Given the description of an element on the screen output the (x, y) to click on. 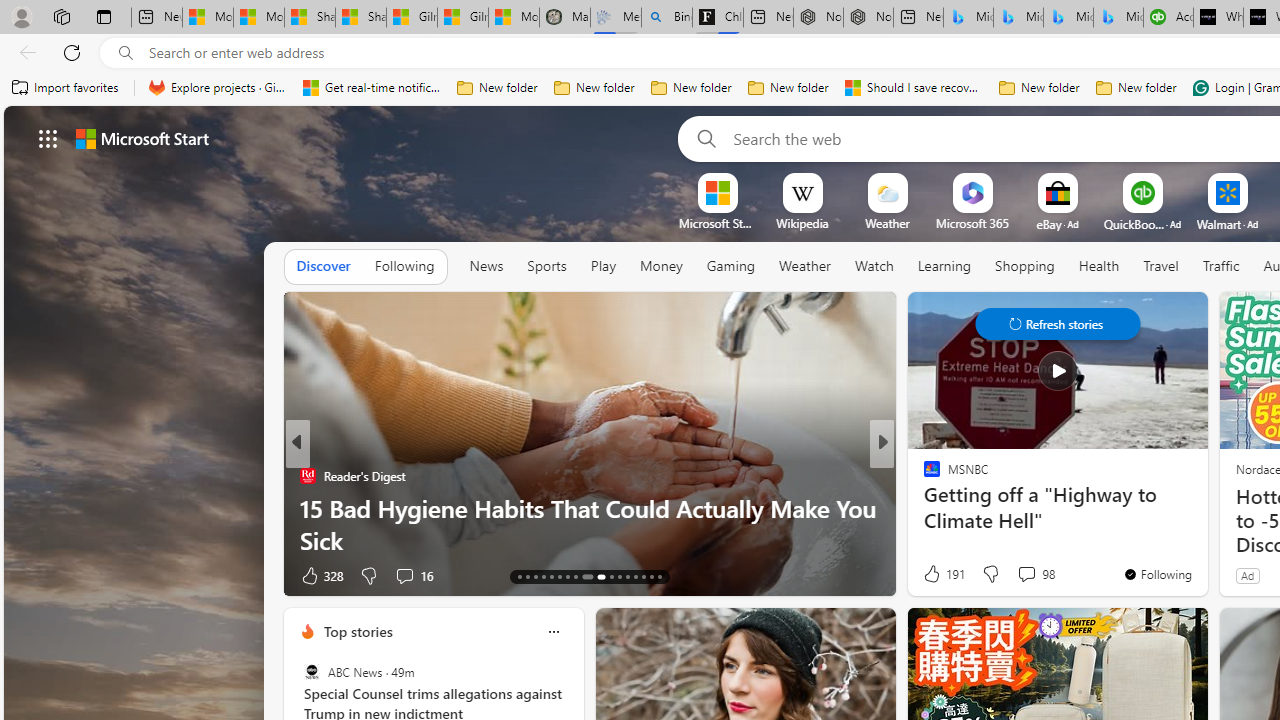
ABC News (311, 672)
Health (1099, 265)
News (485, 267)
Top stories (357, 631)
Learning (944, 265)
AutomationID: tab-24 (619, 576)
Microsoft Bing Travel - Shangri-La Hotel Bangkok (1118, 17)
Traffic (1220, 267)
View comments 7 Comment (1014, 575)
Chloe Sorvino (717, 17)
View comments 4 Comment (1014, 575)
Watch (874, 267)
ETNT Mind+Body (923, 475)
View comments 98 Comment (1035, 574)
